Given the description of an element on the screen output the (x, y) to click on. 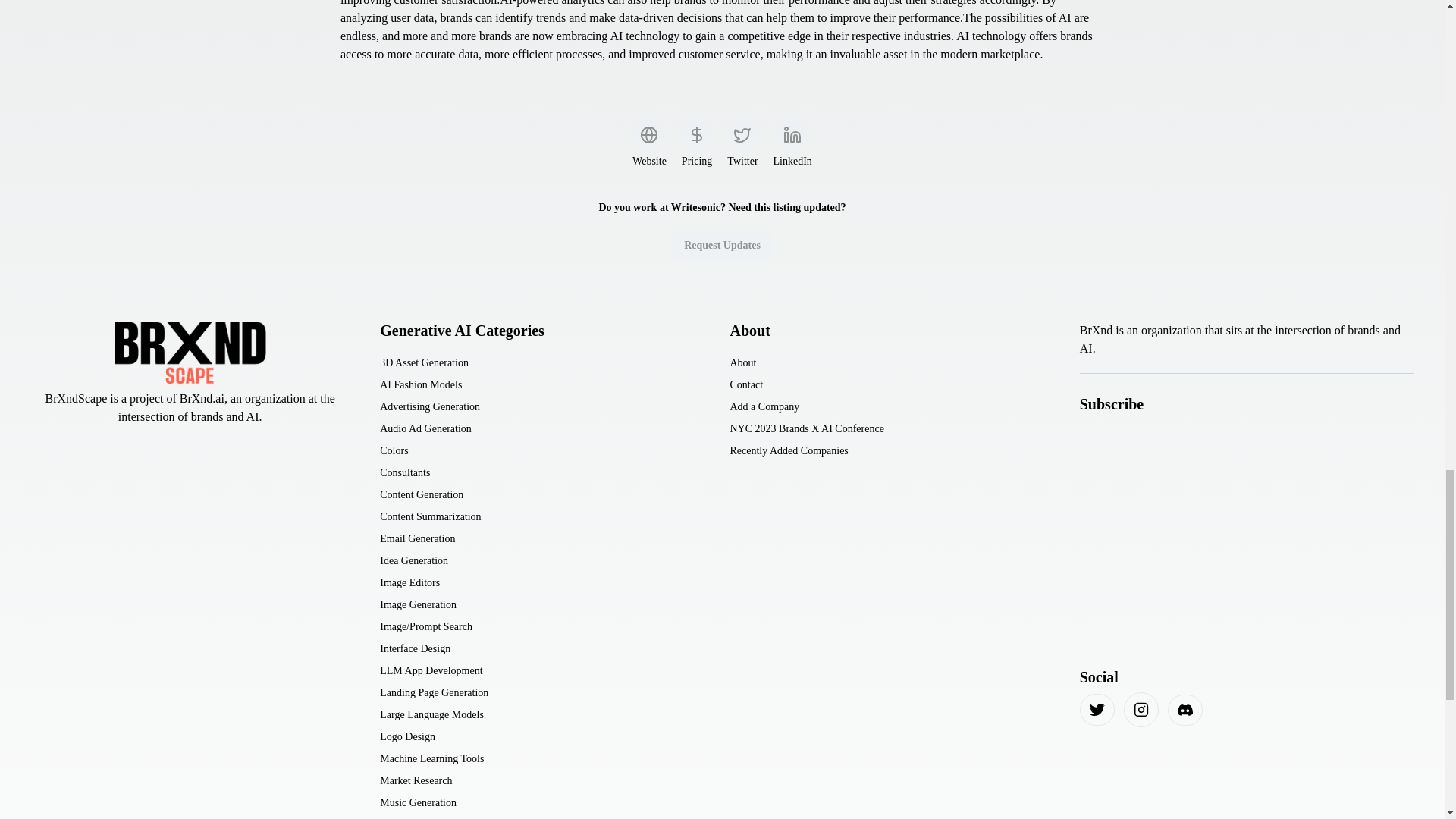
Advertising Generation (430, 406)
Idea Generation (414, 560)
Request Updates (722, 245)
Image Editors (409, 582)
Content Generation (421, 494)
Audio Ad Generation (425, 428)
Content Summarization (430, 516)
Colors (393, 450)
3D Asset Generation (424, 362)
BrXnd.ai (201, 398)
